Given the description of an element on the screen output the (x, y) to click on. 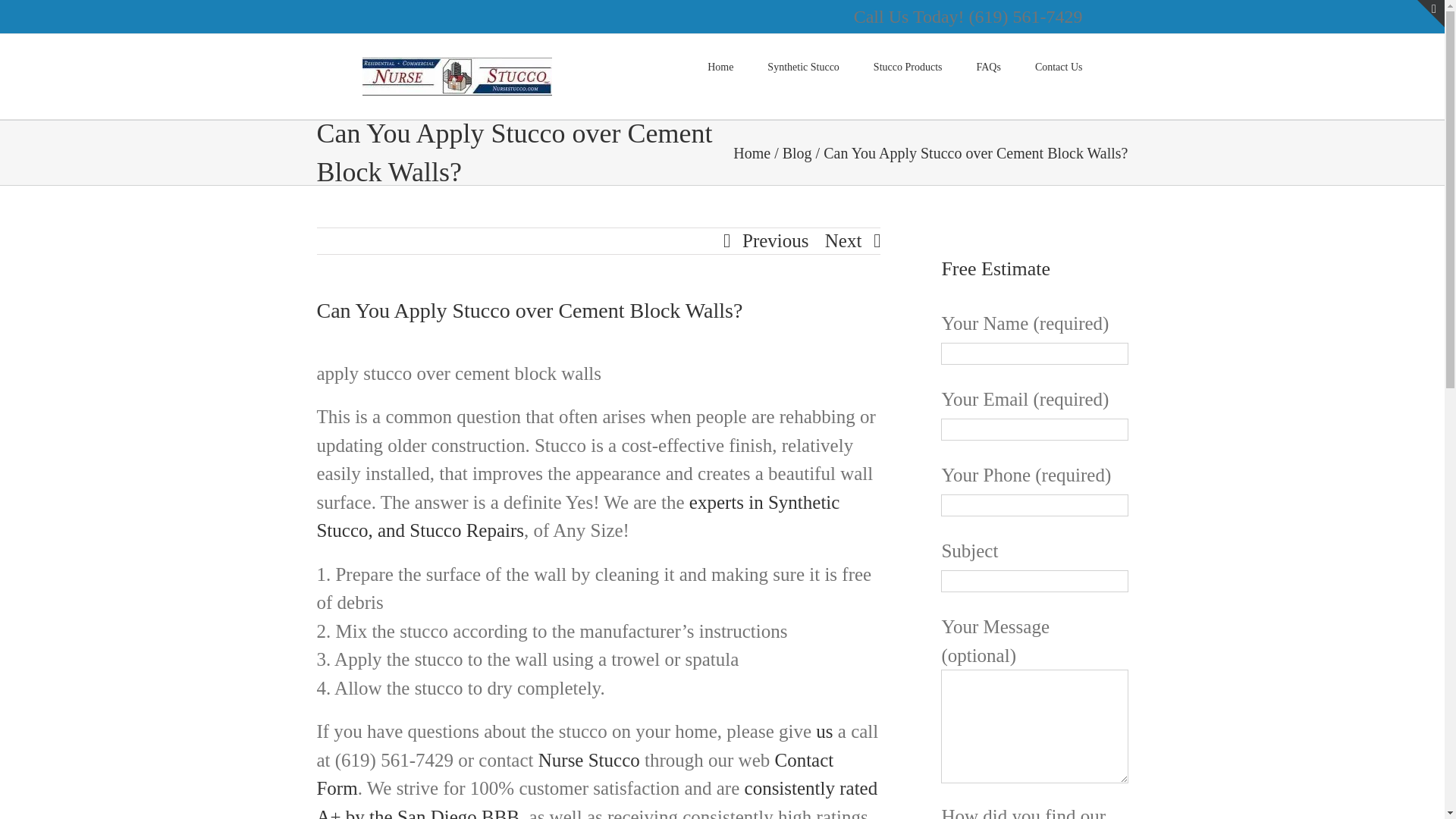
Synthetic Stucco (803, 65)
Nurse Stucco (589, 760)
Next (843, 240)
experts in Synthetic Stucco, and Stucco Repairs (577, 516)
Blog (797, 152)
Contact Form (573, 774)
Stucco Products (907, 65)
Home (751, 152)
Previous (775, 240)
